Given the description of an element on the screen output the (x, y) to click on. 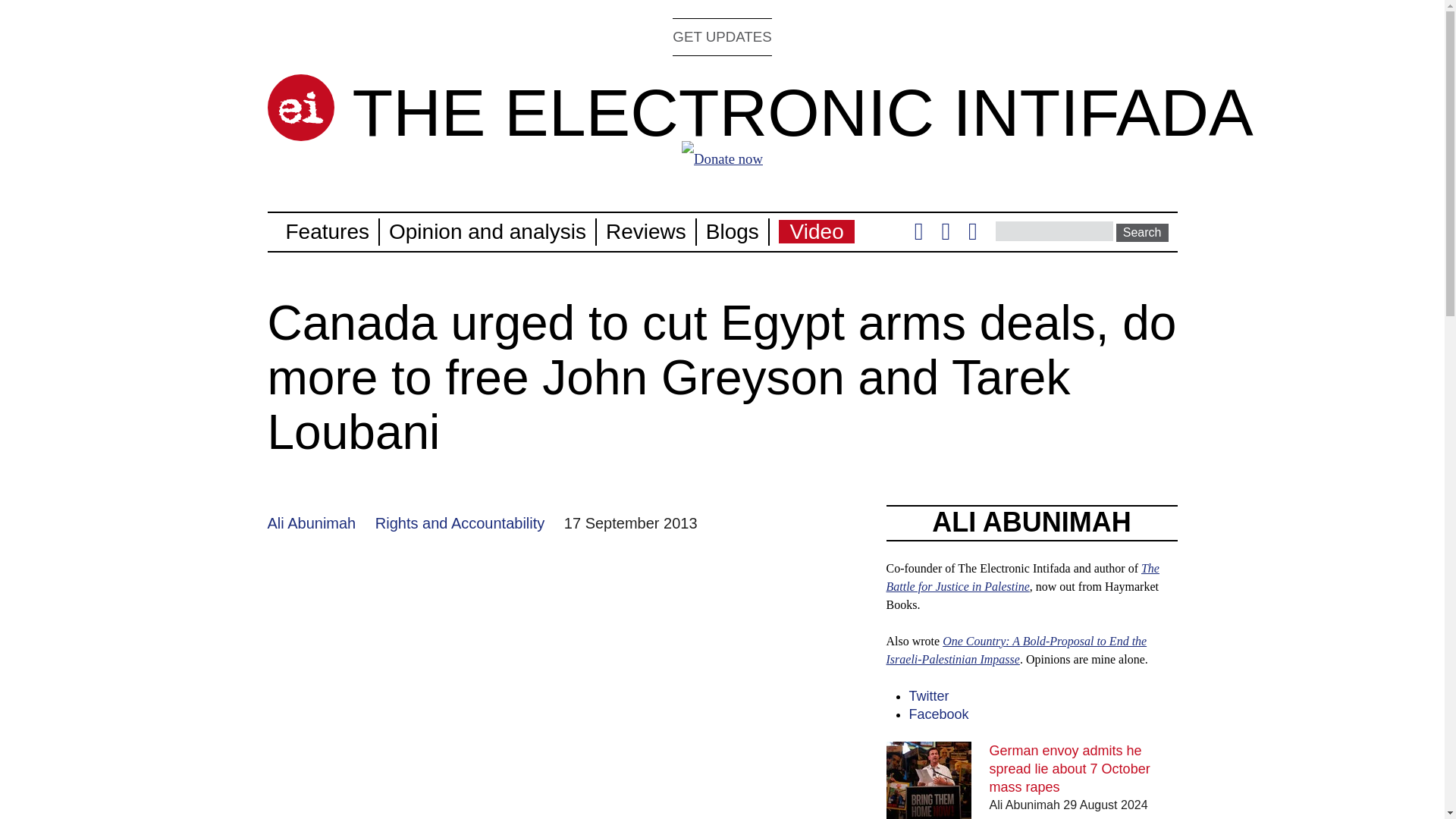
Enter the terms you wish to search for. (1054, 230)
The Battle for Justice in Palestine (1021, 576)
Ali Abunimah (310, 523)
THE ELECTRONIC INTIFADA (802, 112)
Home (802, 112)
Rights and Accountability (459, 523)
Twitter (928, 695)
Facebook (938, 713)
Search (1142, 232)
